Given the description of an element on the screen output the (x, y) to click on. 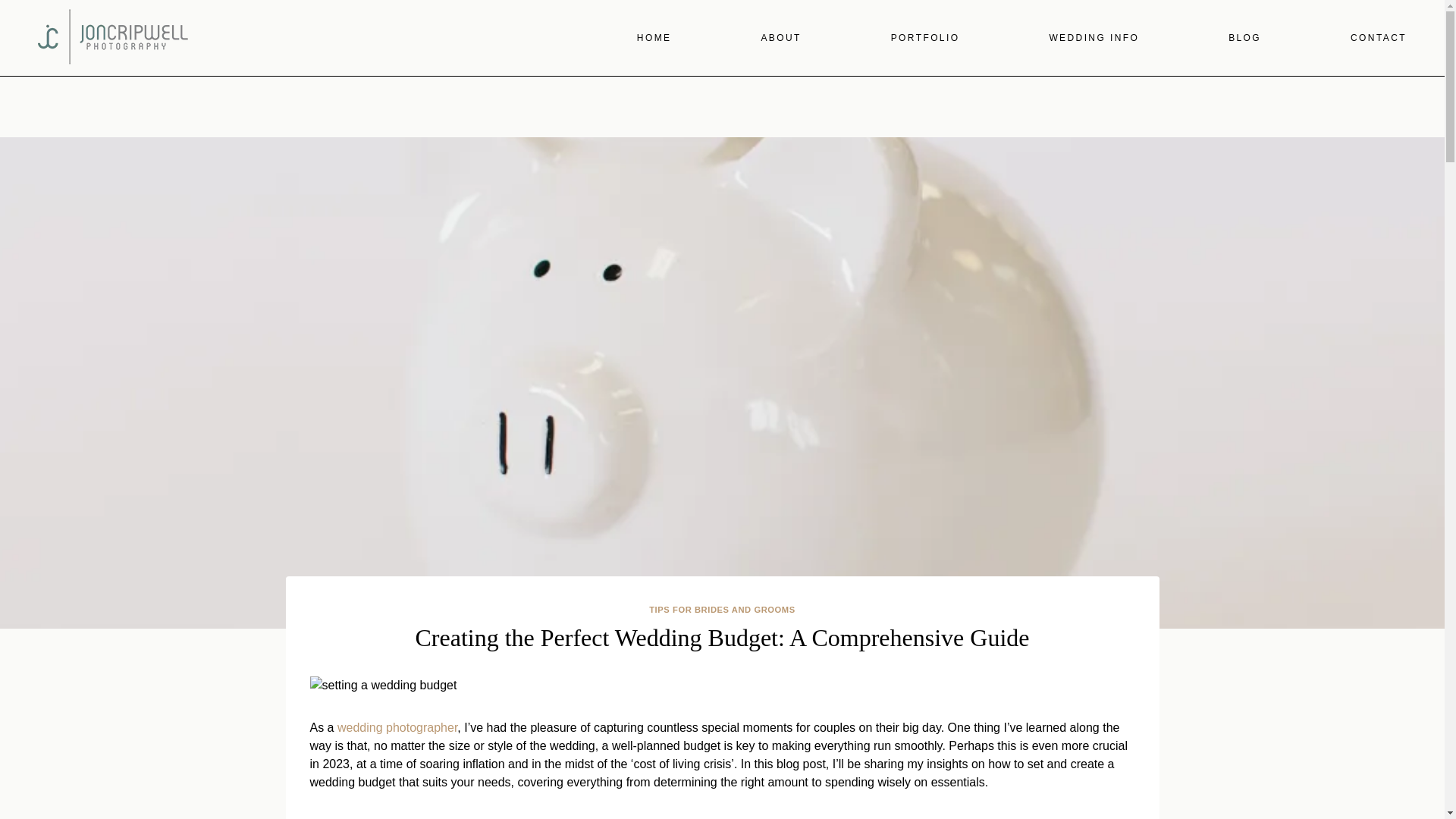
wedding photographer (397, 727)
BLOG (1244, 37)
WEDDING INFO (1093, 37)
TIPS FOR BRIDES AND GROOMS (721, 609)
ABOUT (780, 37)
HOME (654, 37)
PORTFOLIO (925, 37)
CONTACT (1378, 37)
